Given the description of an element on the screen output the (x, y) to click on. 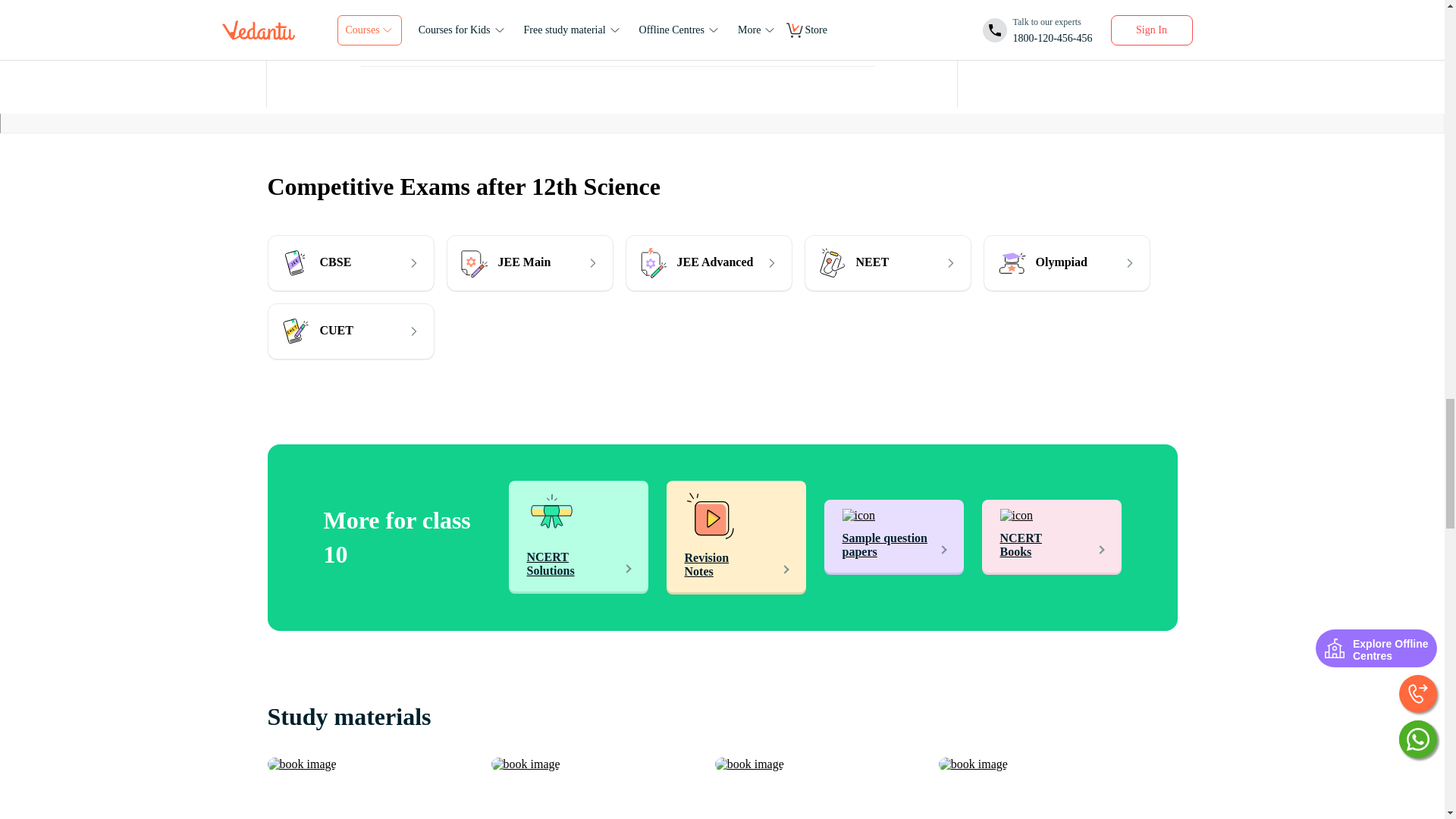
NEET (887, 263)
JEE Advanced (708, 263)
JEE Main (528, 263)
CBSE (349, 263)
